Given the description of an element on the screen output the (x, y) to click on. 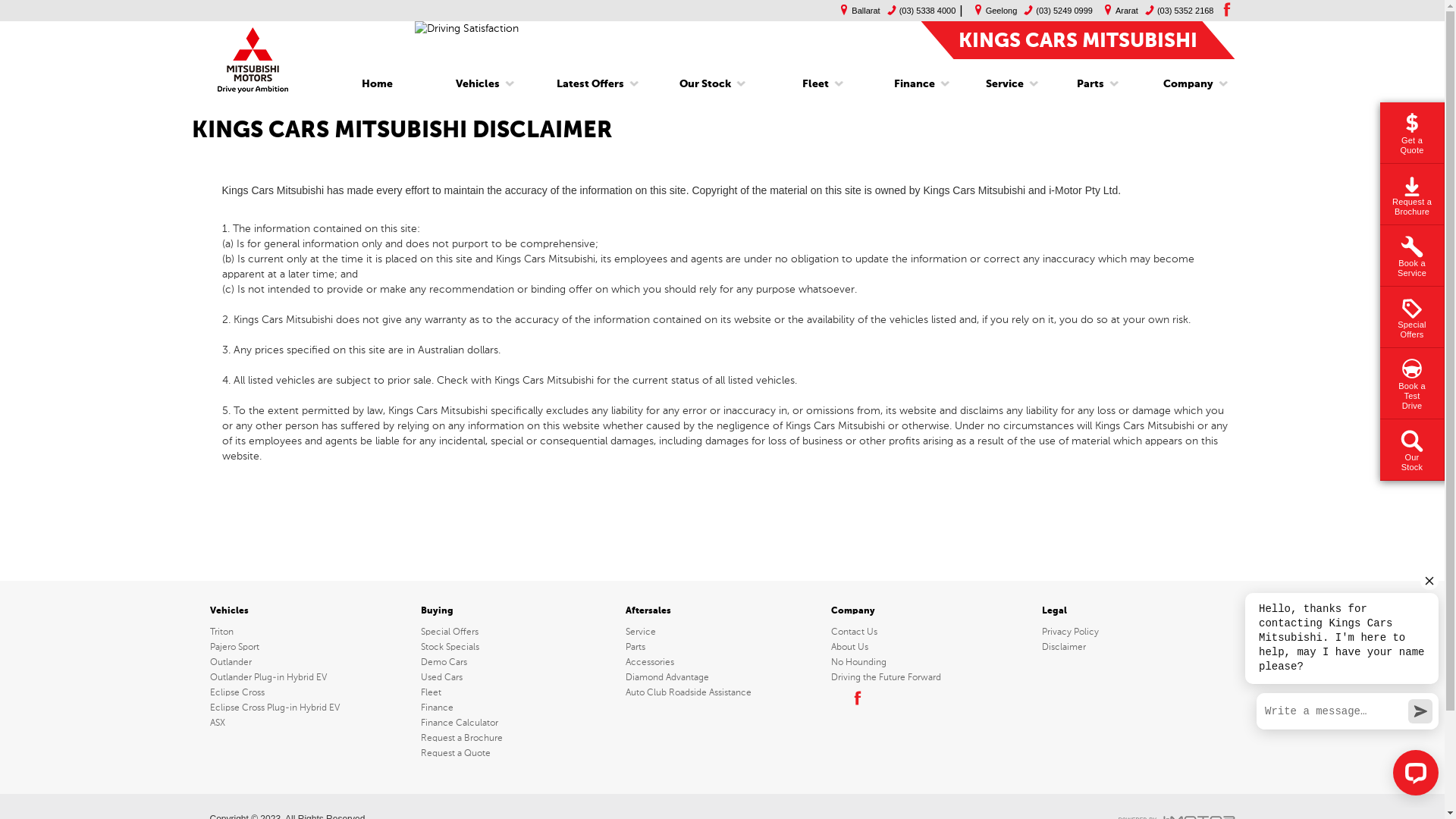
facebook Element type: text (856, 697)
ASX Element type: text (311, 722)
Ararat Element type: text (1117, 10)
Eclipse Cross Plug-in Hybrid EV Element type: text (311, 707)
Eclipse Cross Element type: text (311, 691)
Service Element type: text (1004, 83)
Company Element type: text (1182, 83)
About Us Element type: text (927, 646)
Geelong Element type: text (991, 10)
Diamond Advantage Element type: text (721, 676)
Accessories Element type: text (721, 661)
Stock Specials Element type: text (516, 646)
Disclaimer Element type: text (1137, 646)
Contact Us Element type: text (927, 631)
Vehicles Element type: text (477, 83)
Used Cars Element type: text (516, 676)
Finance Calculator Element type: text (516, 722)
Special Offers Element type: text (516, 631)
No Hounding Element type: text (927, 661)
Fleet Element type: text (516, 691)
KINGS CARS MITSUBISHI Element type: text (1077, 40)
Service Element type: text (721, 631)
Finance Element type: text (516, 707)
Latest Offers Element type: text (590, 83)
Privacy Policy Element type: text (1137, 631)
Outlander Element type: text (311, 661)
Triton Element type: text (311, 631)
LiveChat chat widget Element type: hover (1338, 685)
Finance Element type: text (914, 83)
Our Stock Element type: text (705, 83)
Request a Brochure Element type: text (516, 737)
Parts Element type: text (721, 646)
Fleet Element type: text (815, 83)
Demo Cars Element type: text (516, 661)
Ballarat Element type: text (855, 10)
Request a Quote Element type: text (516, 752)
Home Element type: text (377, 83)
Auto Club Roadside Assistance Element type: text (721, 691)
Outlander Plug-in Hybrid EV Element type: text (311, 676)
Driving the Future Forward Element type: text (927, 676)
Pajero Sport Element type: text (311, 646)
facebook Element type: text (1224, 9)
Parts Element type: text (1090, 83)
